Given the description of an element on the screen output the (x, y) to click on. 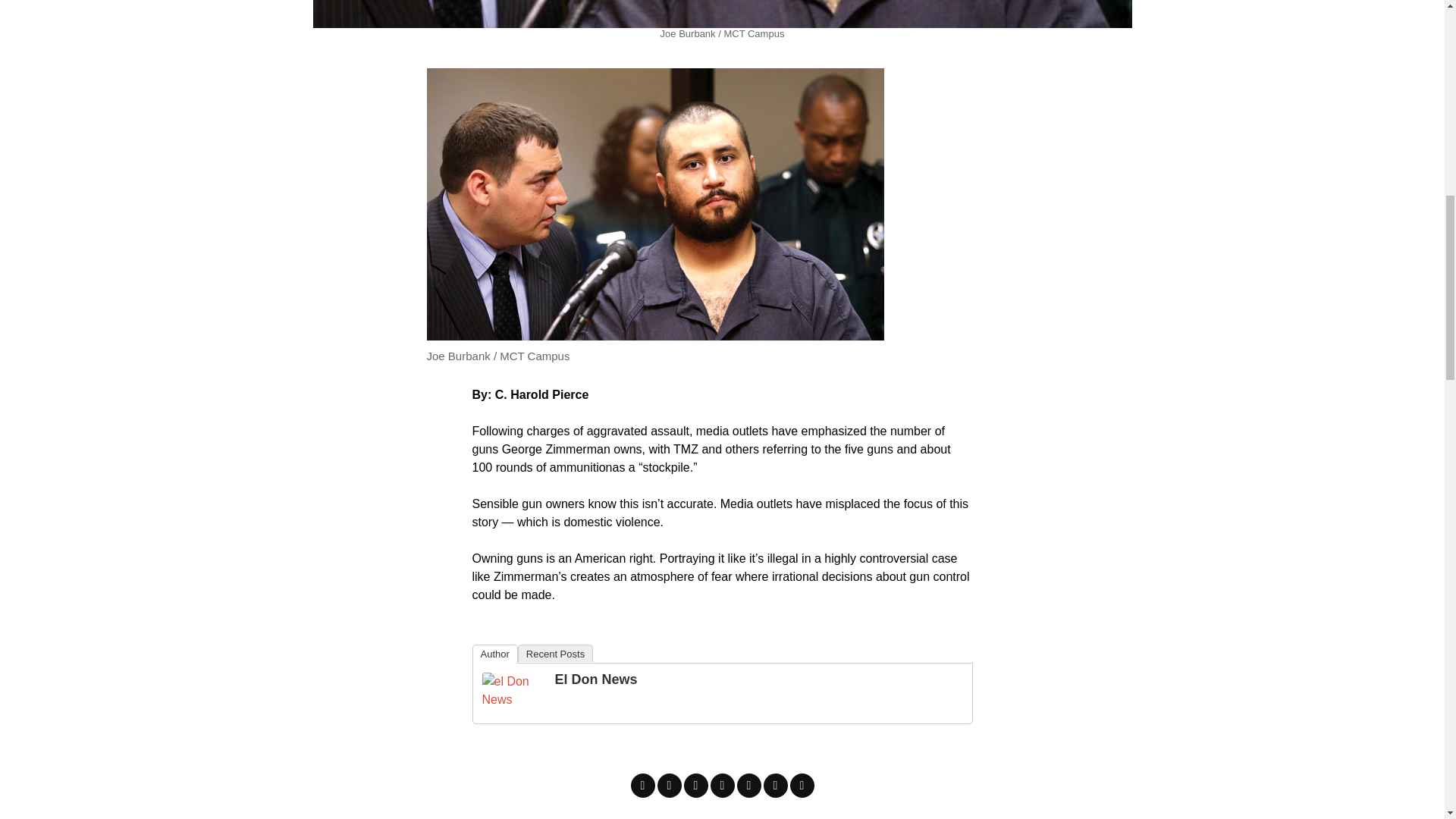
El Don News (595, 679)
Author (493, 653)
el Don News (512, 689)
Recent Posts (555, 652)
